Given the description of an element on the screen output the (x, y) to click on. 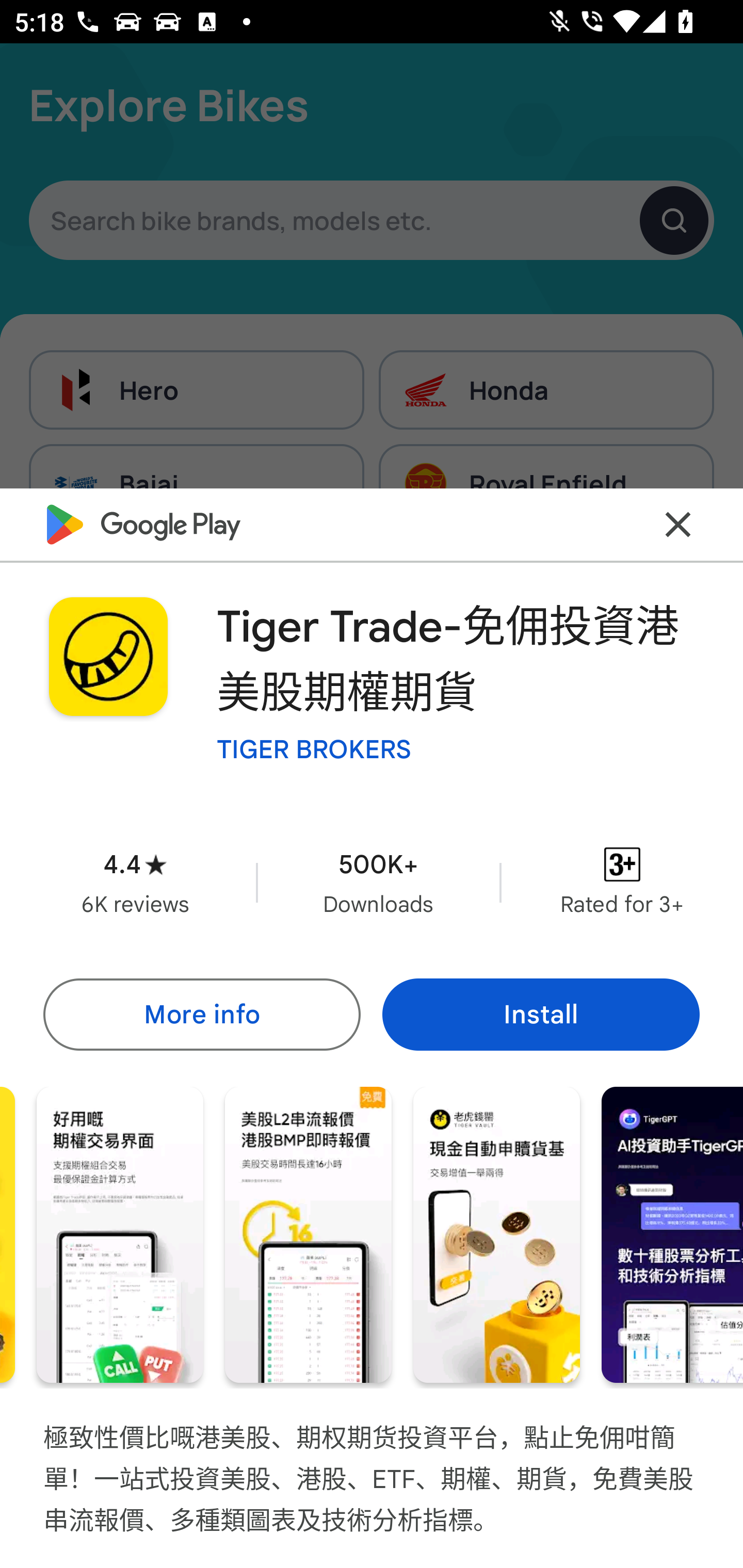
Close (677, 525)
TIGER BROKERS (313, 748)
More info (201, 1014)
Install (540, 1014)
Screenshot "4" of "8" (119, 1234)
Screenshot "5" of "8" (308, 1234)
Screenshot "6" of "8" (496, 1234)
Screenshot "7" of "8" (672, 1234)
